Given the description of an element on the screen output the (x, y) to click on. 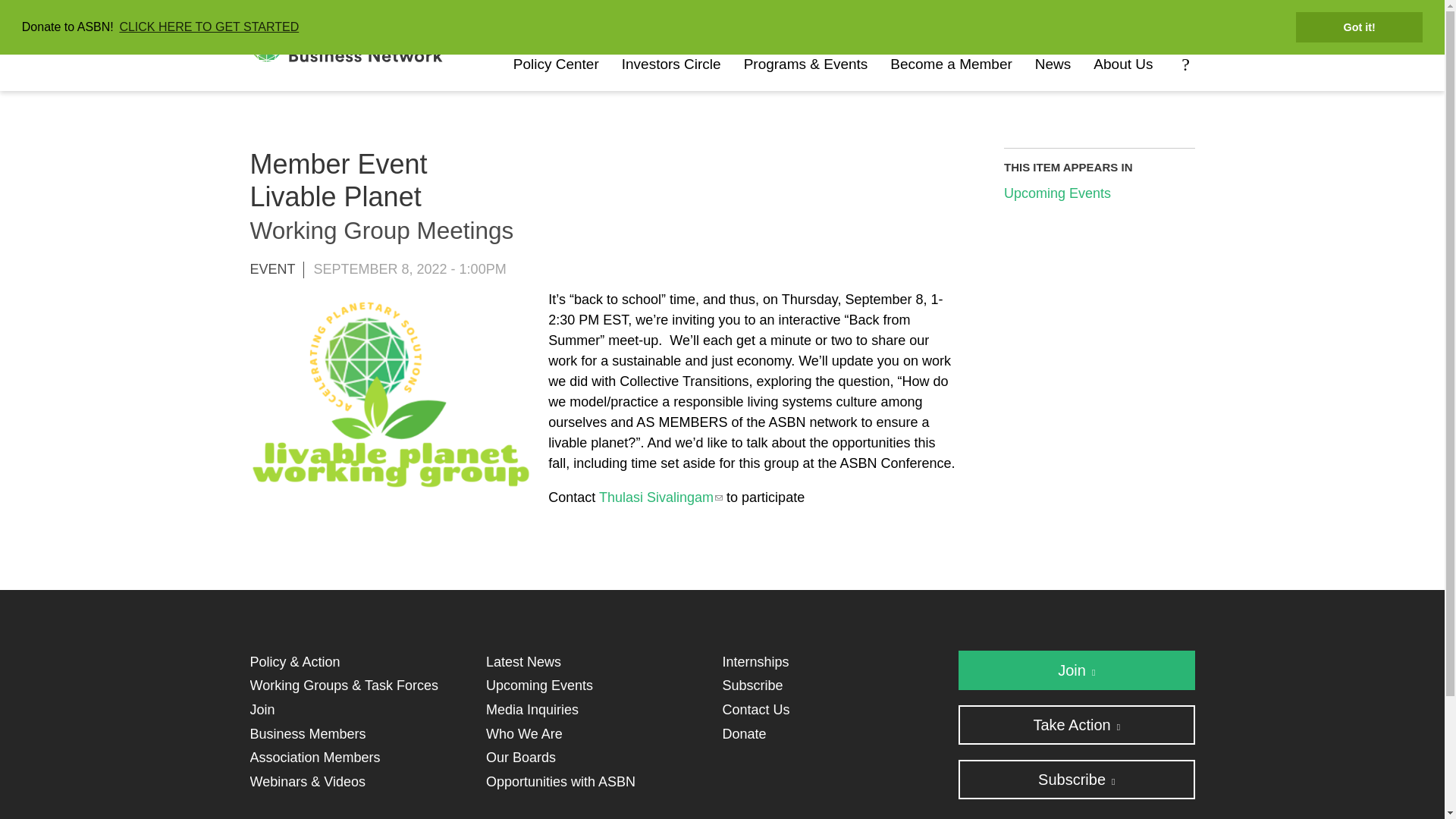
Twitter (785, 17)
Investors Circle (671, 63)
Become a Member (951, 63)
Policy Center (556, 63)
Instagram (735, 17)
Donate (960, 18)
Subscribe (1146, 18)
ASBN Policy Center (556, 63)
Facebook (881, 17)
Instagram (735, 17)
CLICK HERE TO GET STARTED (208, 26)
Join (1052, 18)
Back to home (386, 44)
Donate (960, 18)
Subscribe (1146, 18)
